Given the description of an element on the screen output the (x, y) to click on. 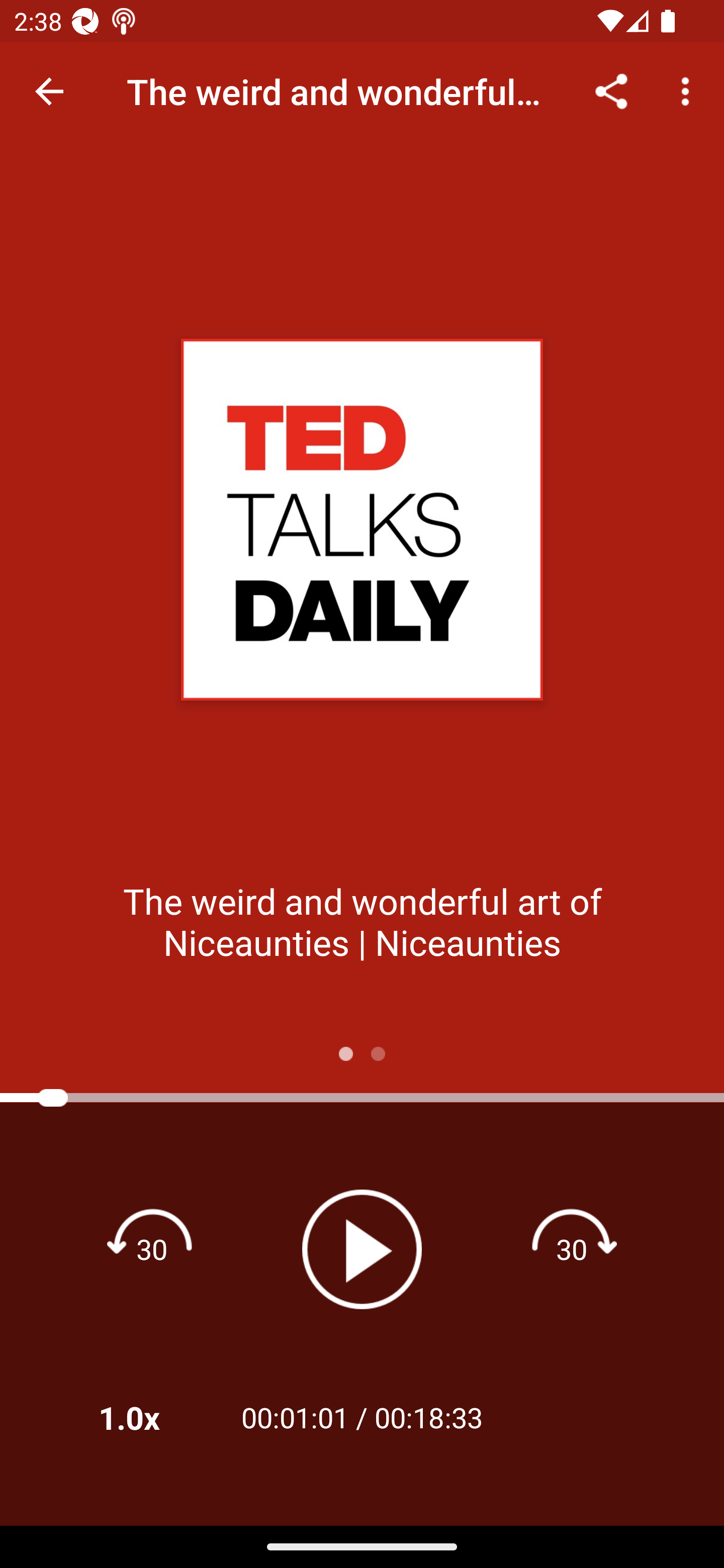
Navigate up (49, 91)
Share... (611, 90)
More options (688, 90)
Play (361, 1249)
Rewind (151, 1248)
Fast forward (571, 1248)
1.0x Playback Speeds (154, 1417)
00:18:33 (428, 1417)
